Given the description of an element on the screen output the (x, y) to click on. 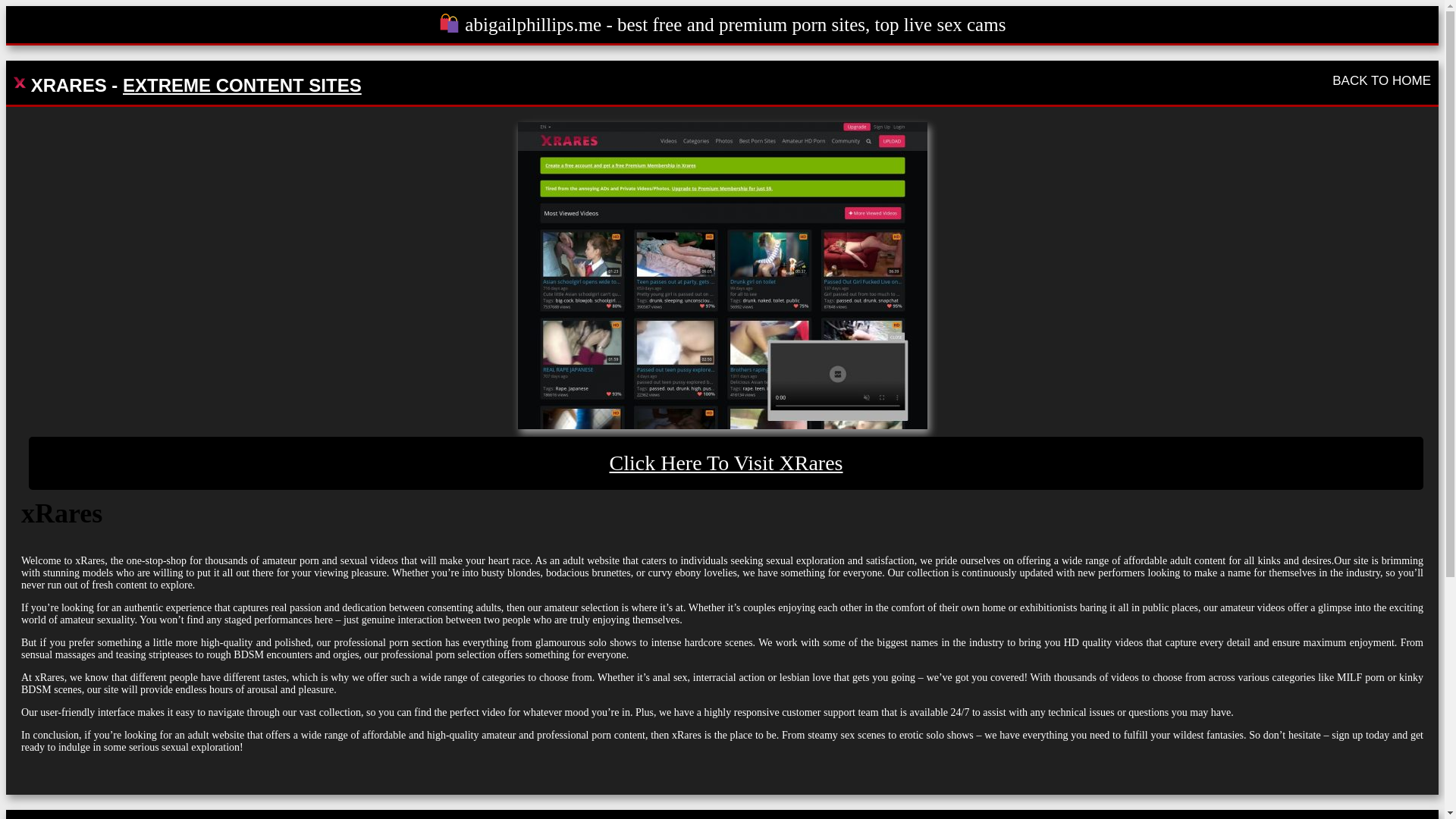
xRares (726, 462)
EXTREME CONTENT SITES (241, 84)
BACK TO HOME (1381, 79)
xRares (721, 274)
Click Here To Visit XRares (726, 462)
